Given the description of an element on the screen output the (x, y) to click on. 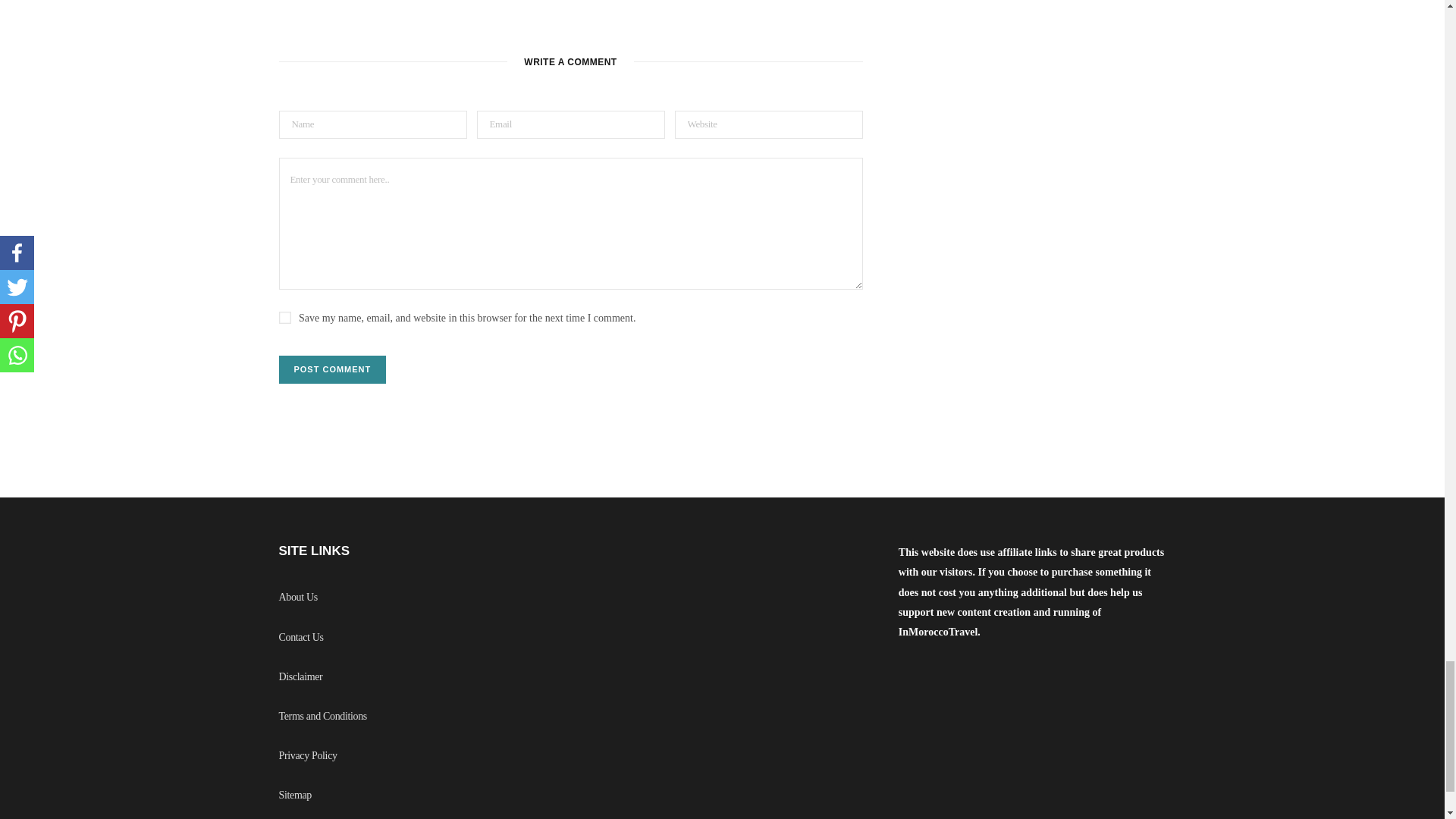
Post Comment (333, 369)
yes (285, 317)
